Given the description of an element on the screen output the (x, y) to click on. 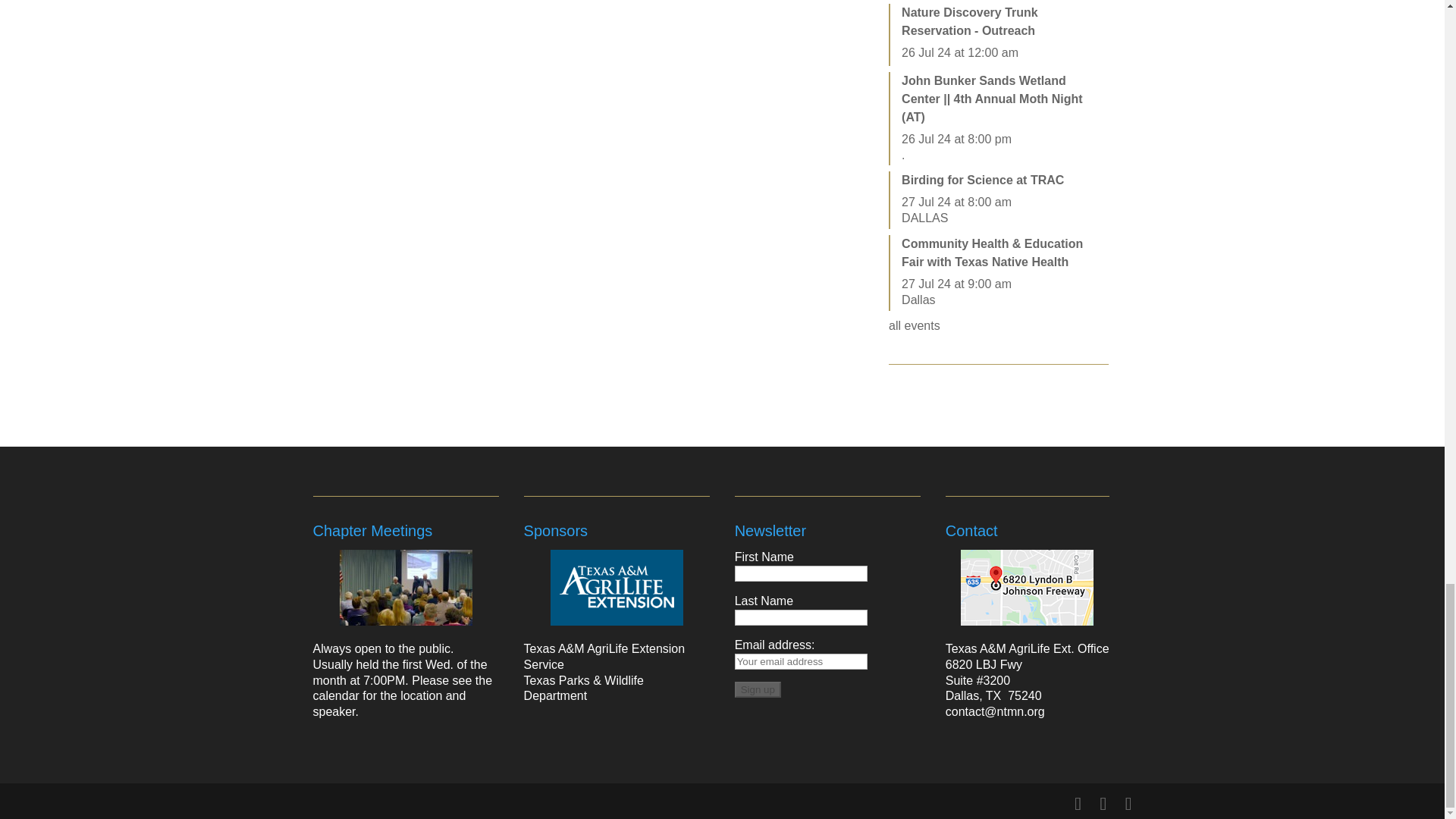
Sign up (757, 689)
